Given the description of an element on the screen output the (x, y) to click on. 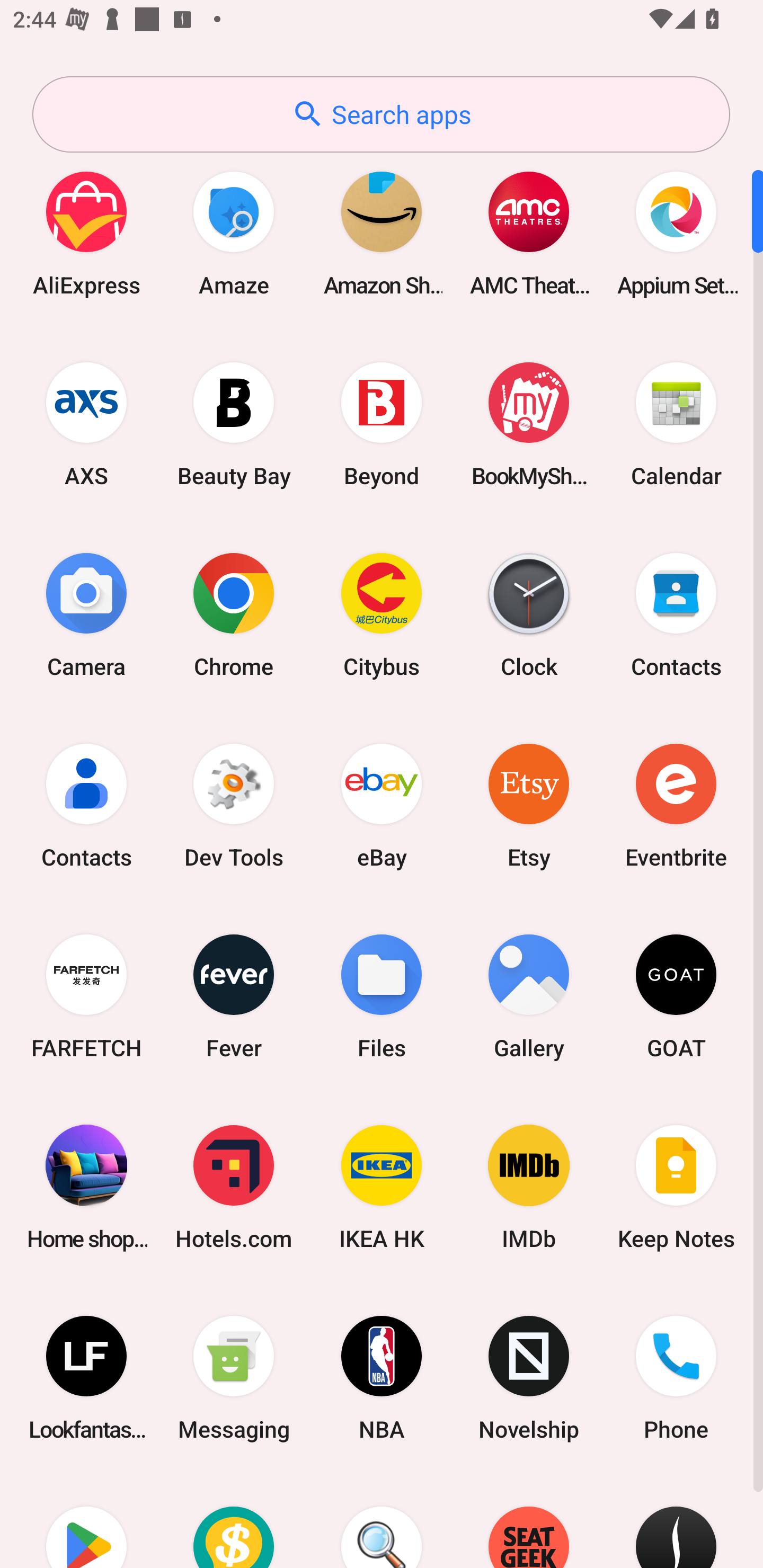
  Search apps (381, 114)
AliExpress (86, 233)
Amaze (233, 233)
Amazon Shopping (381, 233)
AMC Theatres (528, 233)
Appium Settings (676, 233)
AXS (86, 424)
Beauty Bay (233, 424)
Beyond (381, 424)
BookMyShow (528, 424)
Calendar (676, 424)
Camera (86, 614)
Chrome (233, 614)
Citybus (381, 614)
Clock (528, 614)
Contacts (676, 614)
Contacts (86, 805)
Dev Tools (233, 805)
eBay (381, 805)
Etsy (528, 805)
Eventbrite (676, 805)
FARFETCH (86, 996)
Fever (233, 996)
Files (381, 996)
Gallery (528, 996)
GOAT (676, 996)
Home shopping (86, 1186)
Hotels.com (233, 1186)
IKEA HK (381, 1186)
IMDb (528, 1186)
Keep Notes (676, 1186)
Lookfantastic (86, 1377)
Messaging (233, 1377)
NBA (381, 1377)
Novelship (528, 1377)
Phone (676, 1377)
Play Store (86, 1520)
Price (233, 1520)
Search (381, 1520)
SeatGeek (528, 1520)
Sephora (676, 1520)
